Given the description of an element on the screen output the (x, y) to click on. 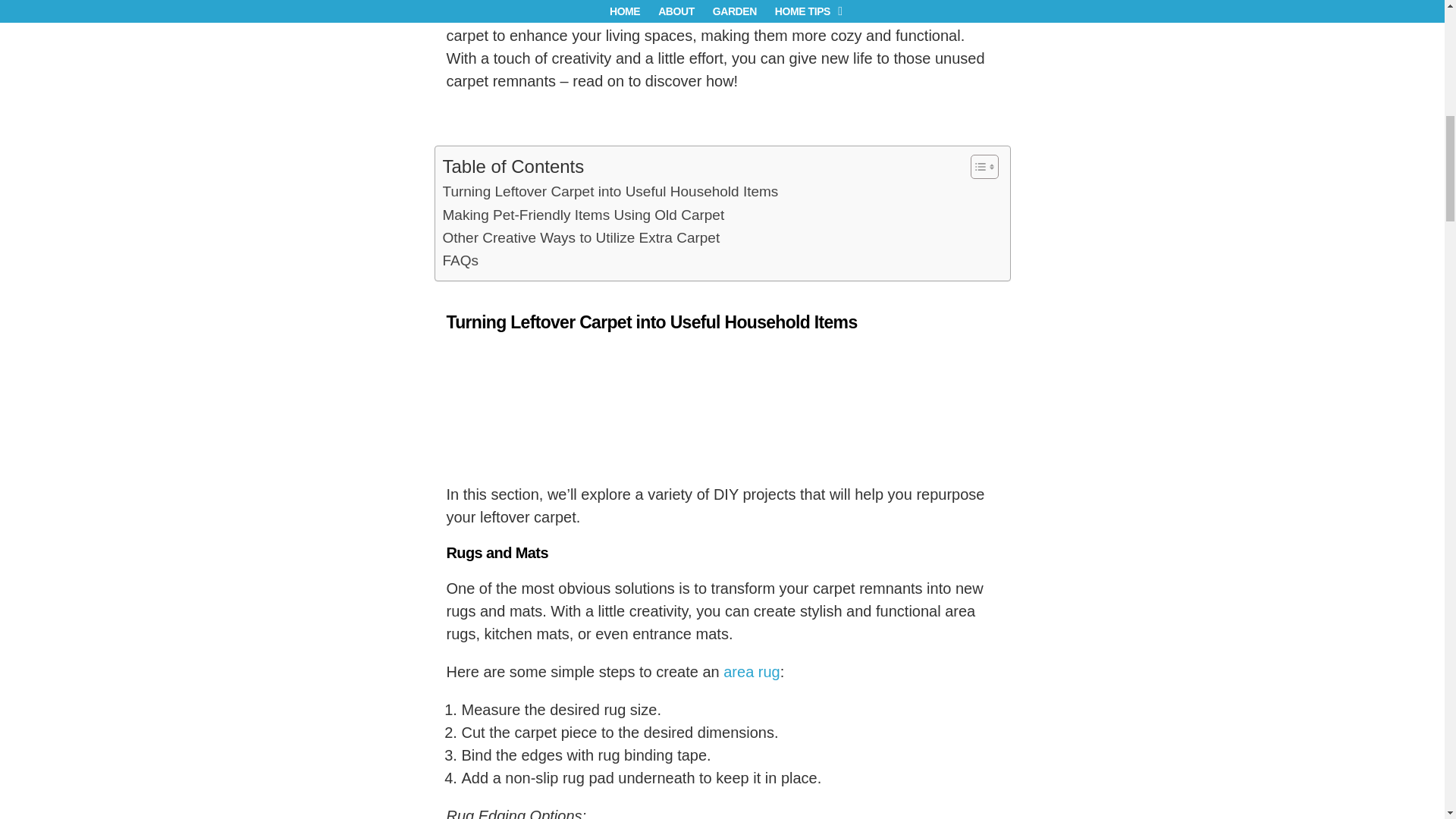
Other Creative Ways to Utilize Extra Carpet (581, 237)
Making Pet-Friendly Items Using Old Carpet (583, 214)
Making Pet-Friendly Items Using Old Carpet (583, 214)
Turning Leftover Carpet into Useful Household Items (610, 191)
FAQs (460, 260)
Turning Leftover Carpet into Useful Household Items (610, 191)
area rug (751, 671)
Other Creative Ways to Utilize Extra Carpet (581, 237)
How to Clean an Area Rug Without Water (751, 671)
FAQs (460, 260)
